Given the description of an element on the screen output the (x, y) to click on. 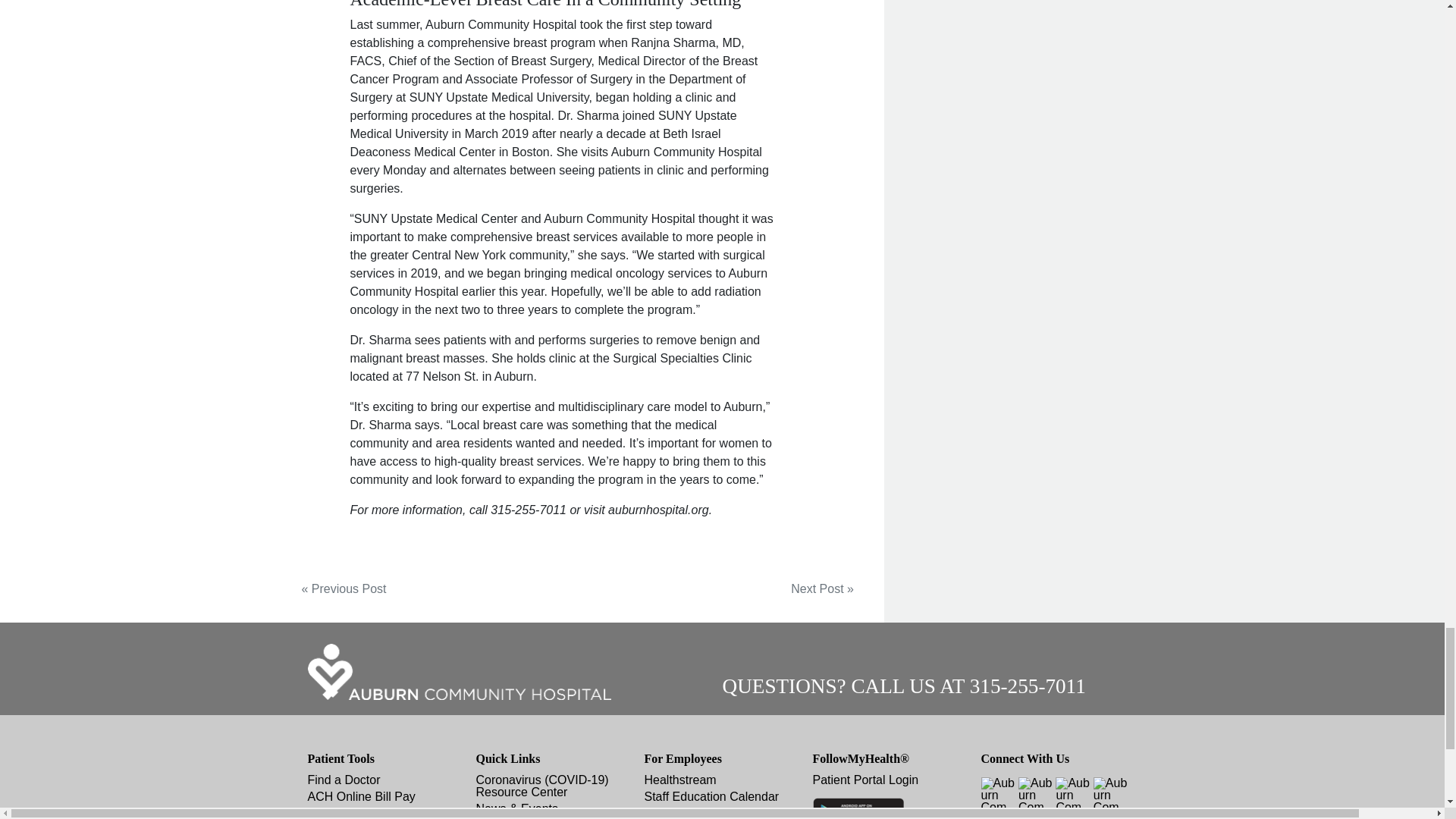
Page 3 (562, 510)
